Given the description of an element on the screen output the (x, y) to click on. 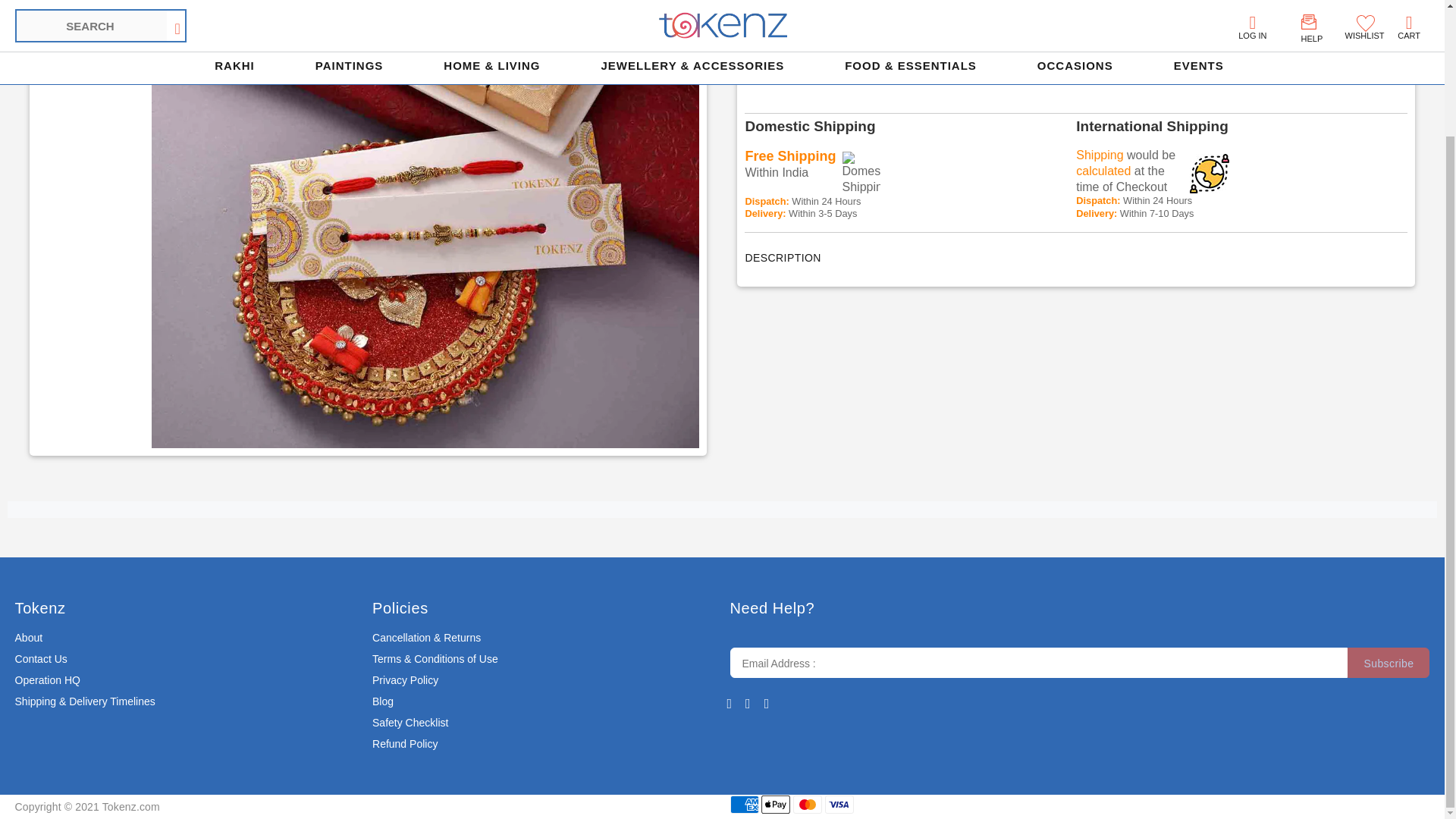
Visa (839, 804)
American Express (743, 804)
Mastercard (807, 804)
Apple Pay (775, 804)
